Given the description of an element on the screen output the (x, y) to click on. 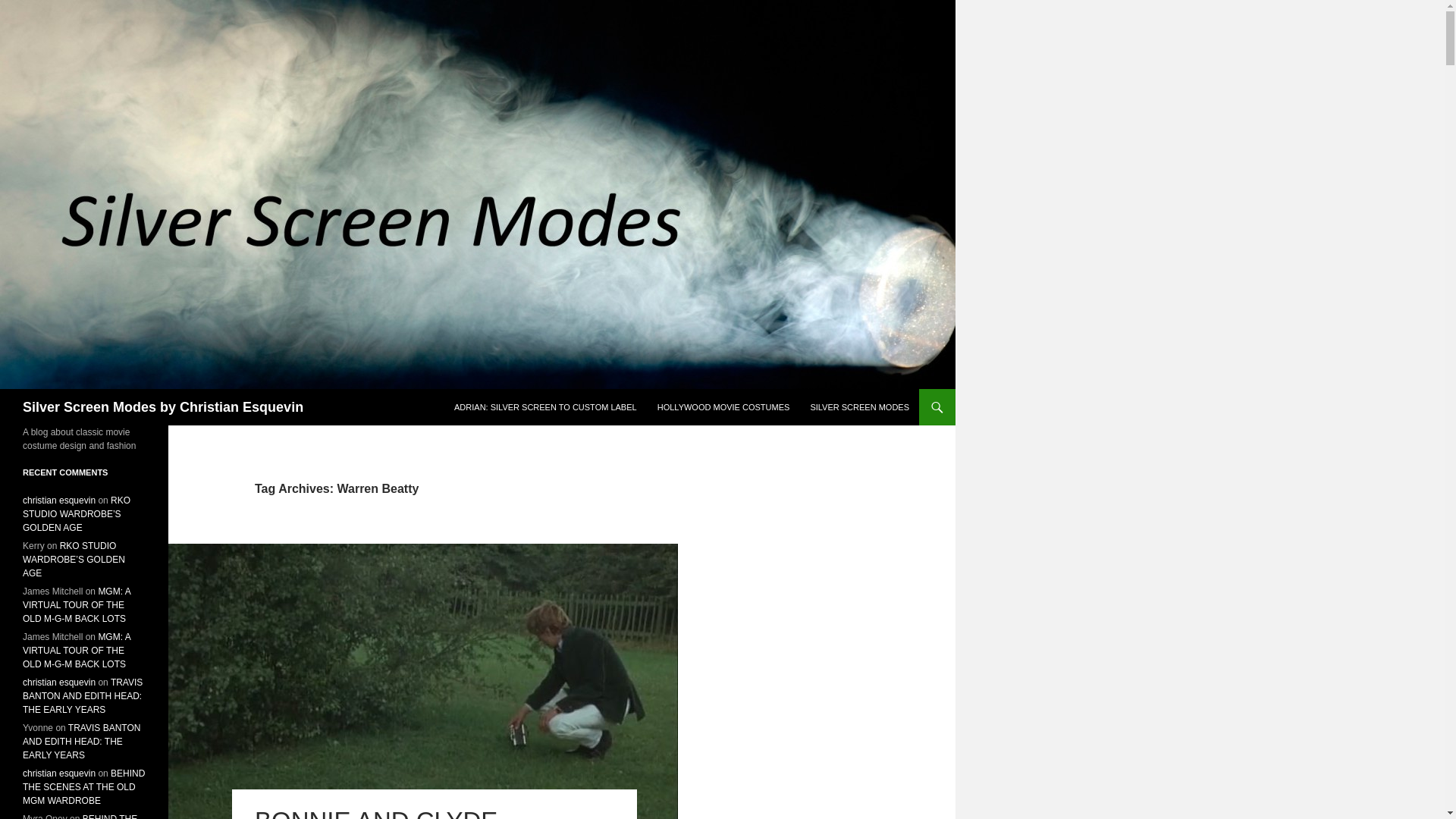
MGM: A VIRTUAL TOUR OF THE OLD M-G-M BACK LOTS (77, 605)
christian esquevin (59, 773)
ADRIAN: SILVER SCREEN TO CUSTOM LABEL (545, 407)
HOLLYWOOD MOVIE COSTUMES (723, 407)
Silver Screen Modes by Christian Esquevin (162, 407)
BONNIE AND CLYDE, BLOWUP ON TCM FASHION FOCUS (419, 812)
MGM: A VIRTUAL TOUR OF THE OLD M-G-M BACK LOTS (77, 650)
christian esquevin (59, 500)
